Given the description of an element on the screen output the (x, y) to click on. 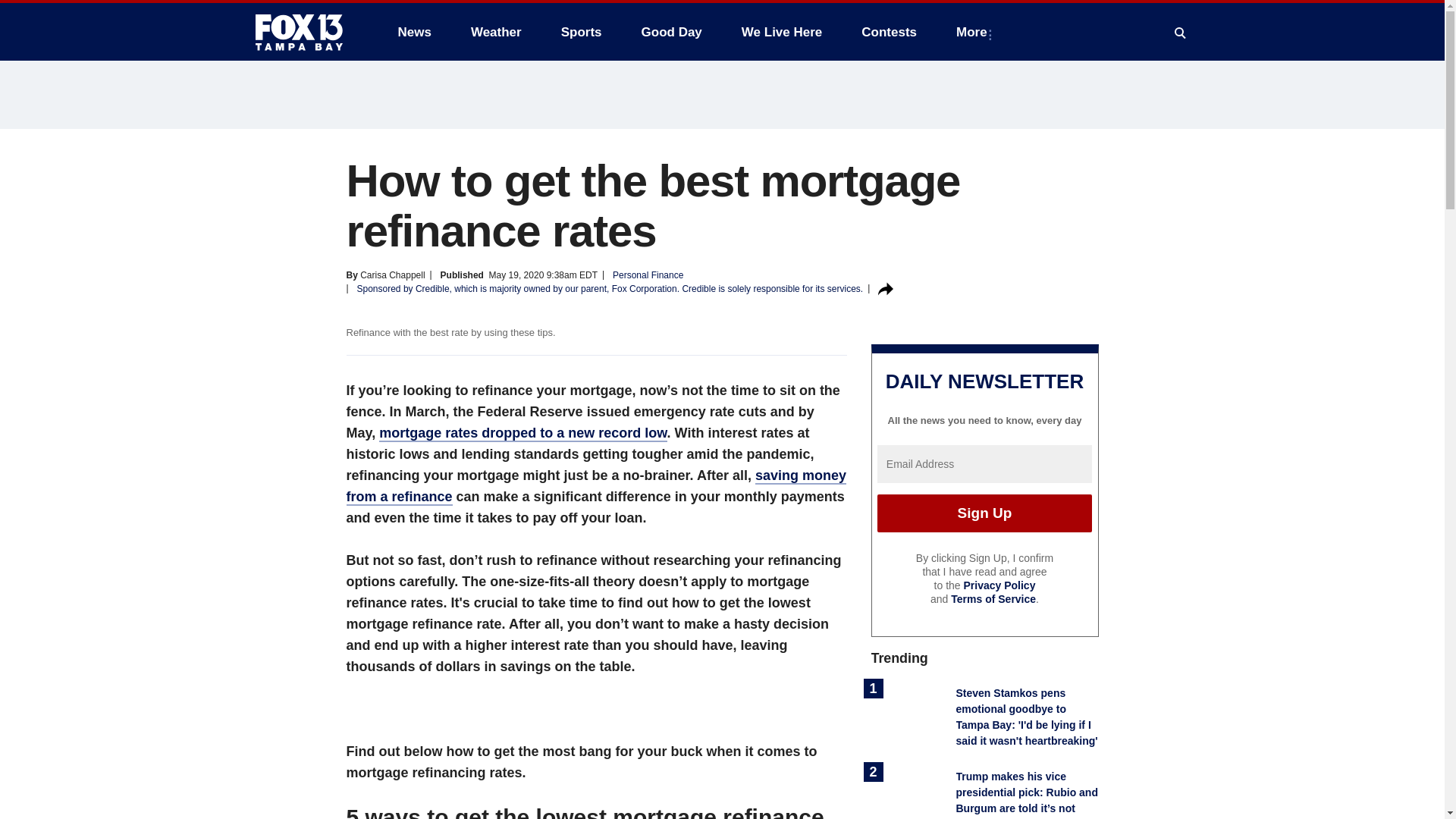
Good Day (671, 32)
We Live Here (781, 32)
Contests (888, 32)
More (974, 32)
News (413, 32)
Weather (496, 32)
Sports (581, 32)
Sign Up (984, 513)
